Given the description of an element on the screen output the (x, y) to click on. 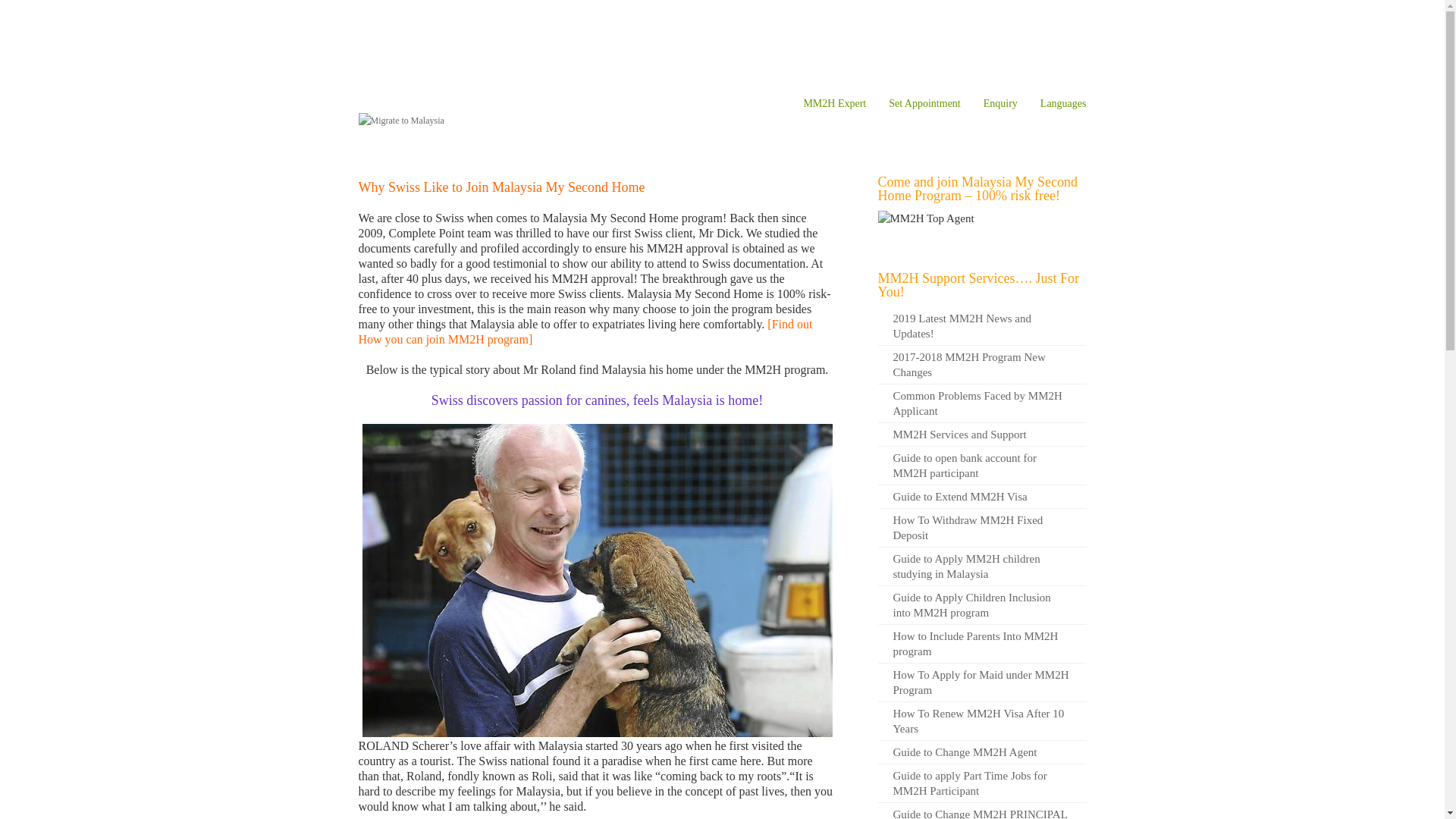
How to Get Started to Apply MM2H program? (585, 331)
MM2H Expert (834, 104)
Guide to Apply MM2H children studying in Malaysia (981, 566)
Guide to open bank account for MM2H participant (981, 465)
Home (369, 150)
Guide to Apply Children Inclusion into MM2H program (981, 605)
Guide to Change MM2H PRINCIPAL Due to Death or Divorce (981, 811)
Languages (1063, 104)
How to Include Parents Into MM2H program (981, 643)
2017-2018 MM2H Program New Changes (981, 364)
Common Problems Faced by MM2H Applicant (981, 403)
How To Apply for Maid under MM2H Program (981, 682)
MM2H Services and Support (981, 434)
Guide to Change MM2H Agent (981, 752)
2019 Latest MM2H News and Updates! (981, 326)
